Given the description of an element on the screen output the (x, y) to click on. 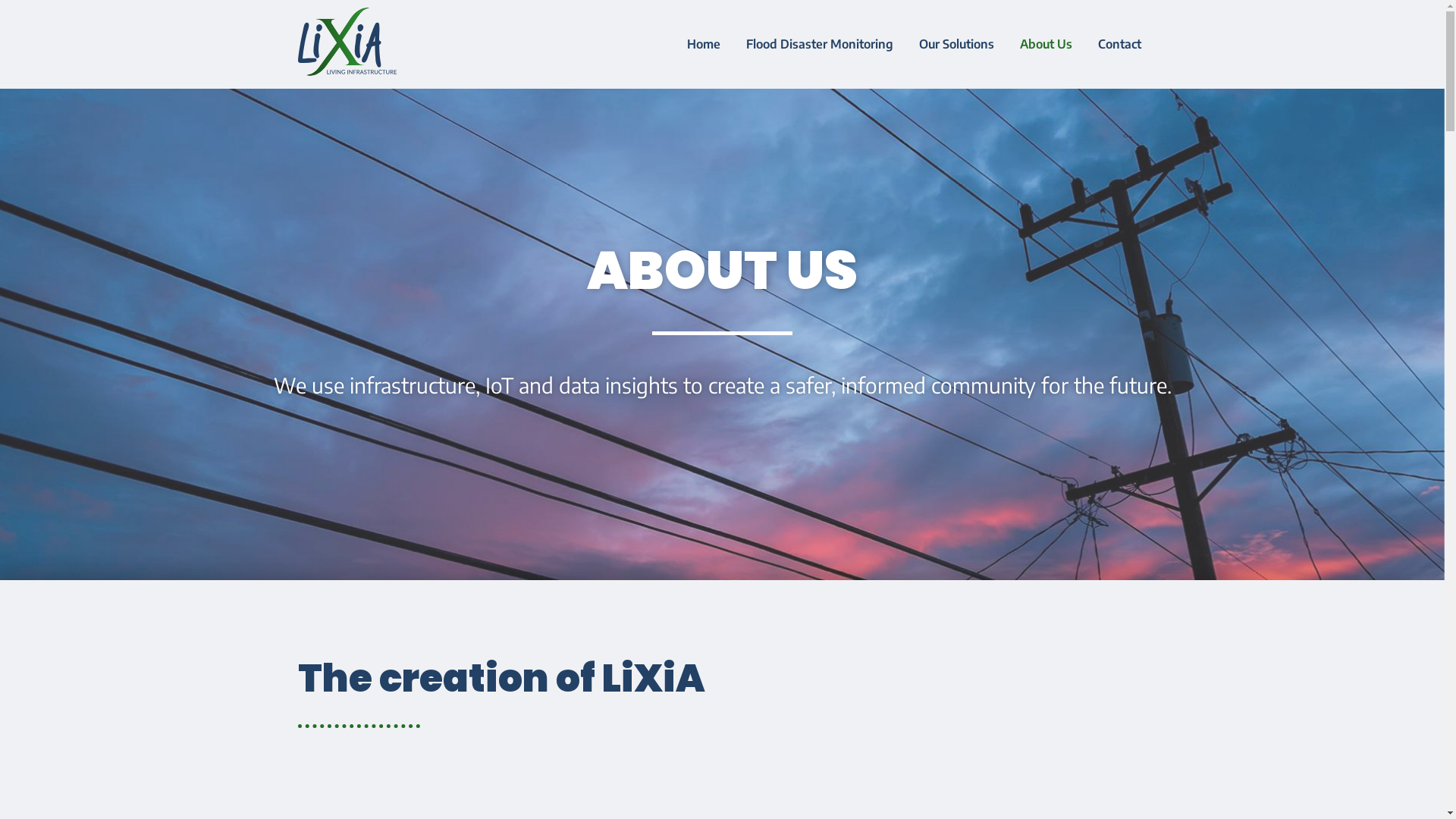
Flood Disaster Monitoring Element type: text (819, 43)
Home Element type: text (703, 43)
About Us Element type: text (1045, 43)
Contact Element type: text (1119, 43)
Our Solutions Element type: text (956, 43)
